Given the description of an element on the screen output the (x, y) to click on. 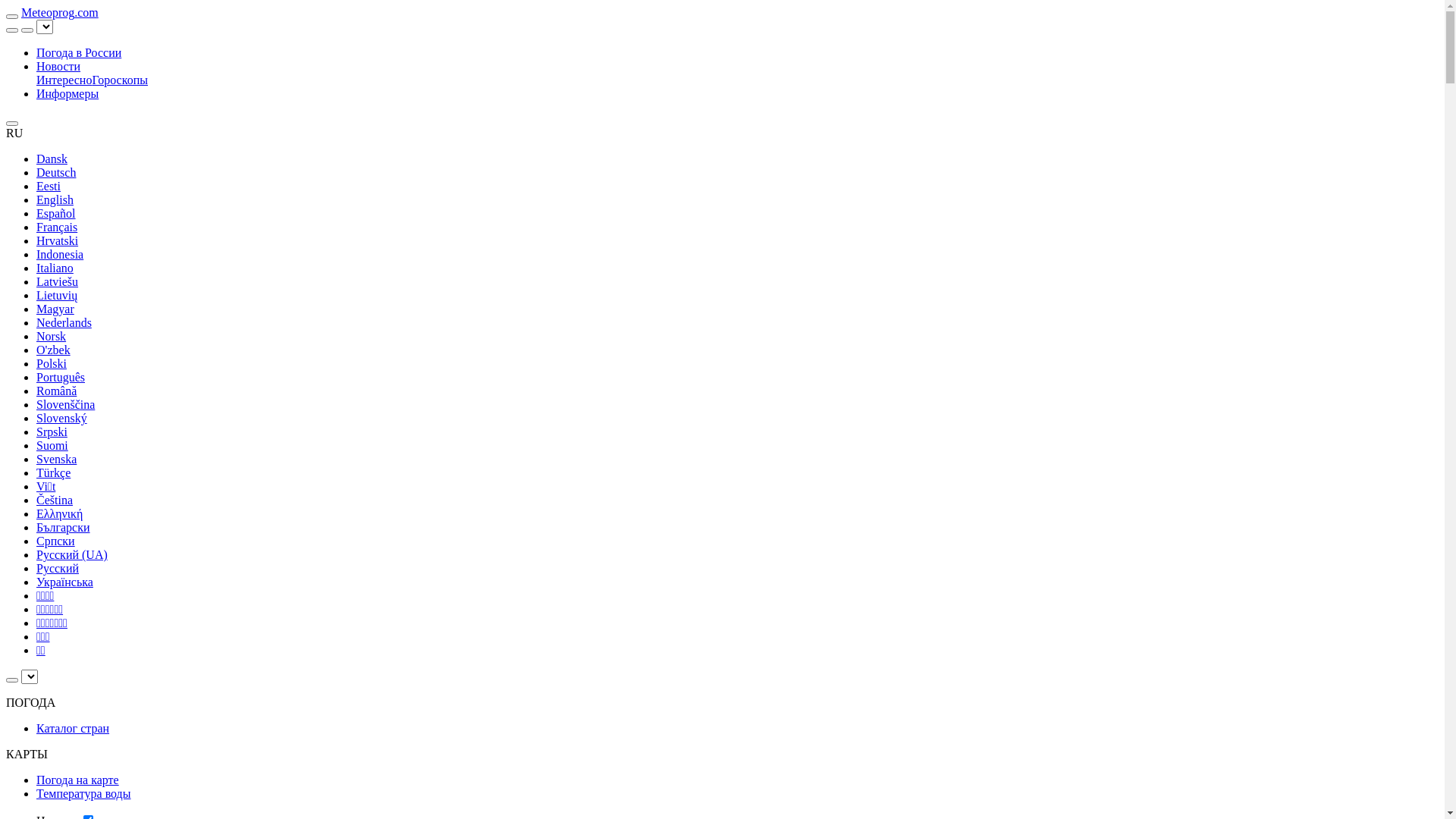
Indonesia Element type: text (59, 253)
Svenska Element type: text (56, 458)
Dansk Element type: text (51, 158)
Deutsch Element type: text (55, 172)
Suomi Element type: text (52, 445)
Eesti Element type: text (48, 185)
Hrvatski Element type: text (57, 240)
English Element type: text (54, 199)
O'zbek Element type: text (53, 349)
Nederlands Element type: text (63, 322)
Polski Element type: text (51, 363)
Norsk Element type: text (50, 335)
Srpski Element type: text (51, 431)
Magyar Element type: text (55, 308)
Meteoprog.com Element type: text (59, 12)
Italiano Element type: text (54, 267)
